Given the description of an element on the screen output the (x, y) to click on. 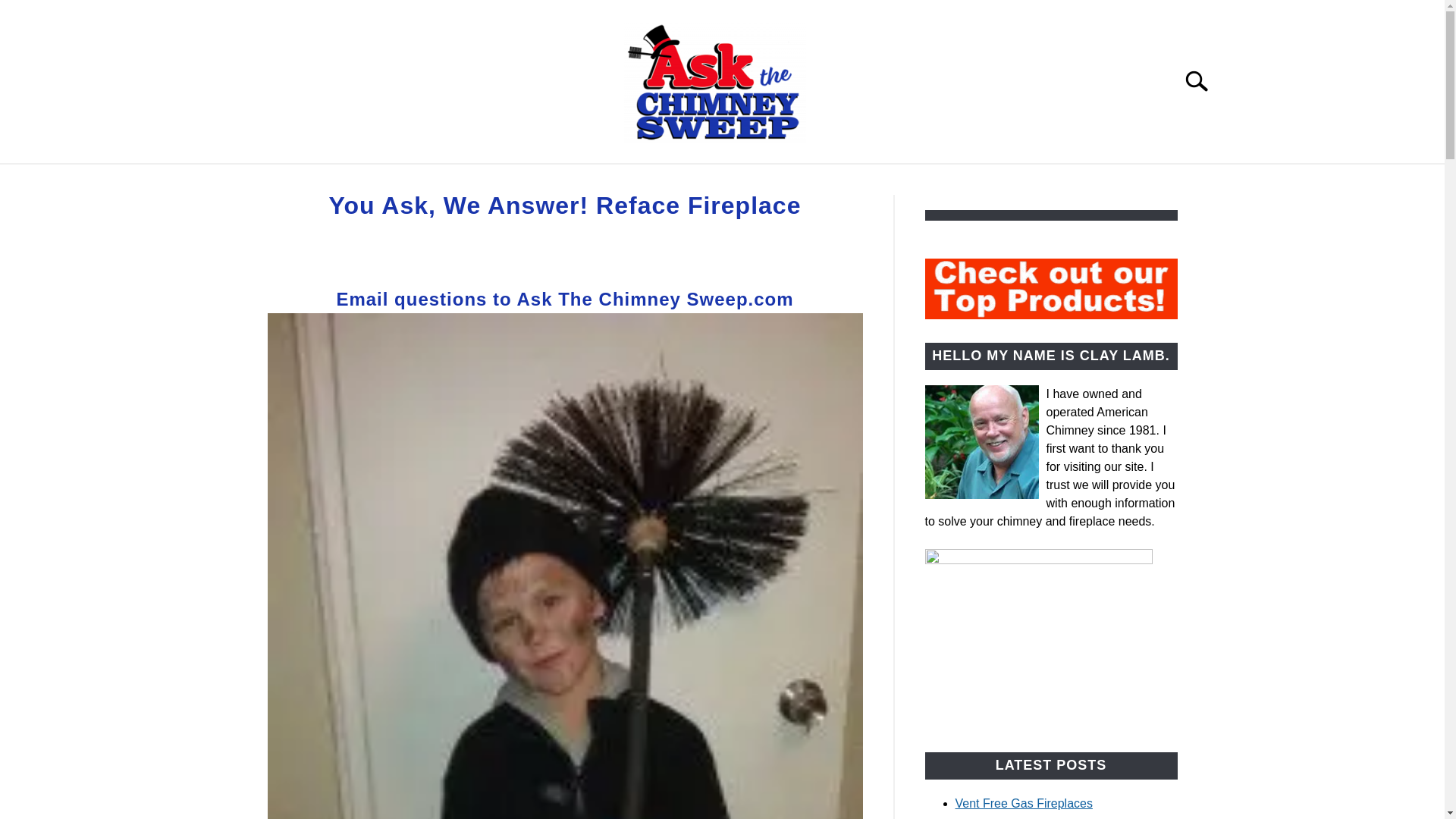
STOVES (652, 181)
MASONRY (746, 181)
OTHER OUTDOOR PROJECTS (913, 181)
OUR TOP PRODUCTS (413, 181)
CHIMNEYS (553, 181)
Search (1203, 80)
clay-lamb-chimney-sweep (981, 441)
HOME (291, 181)
